Given the description of an element on the screen output the (x, y) to click on. 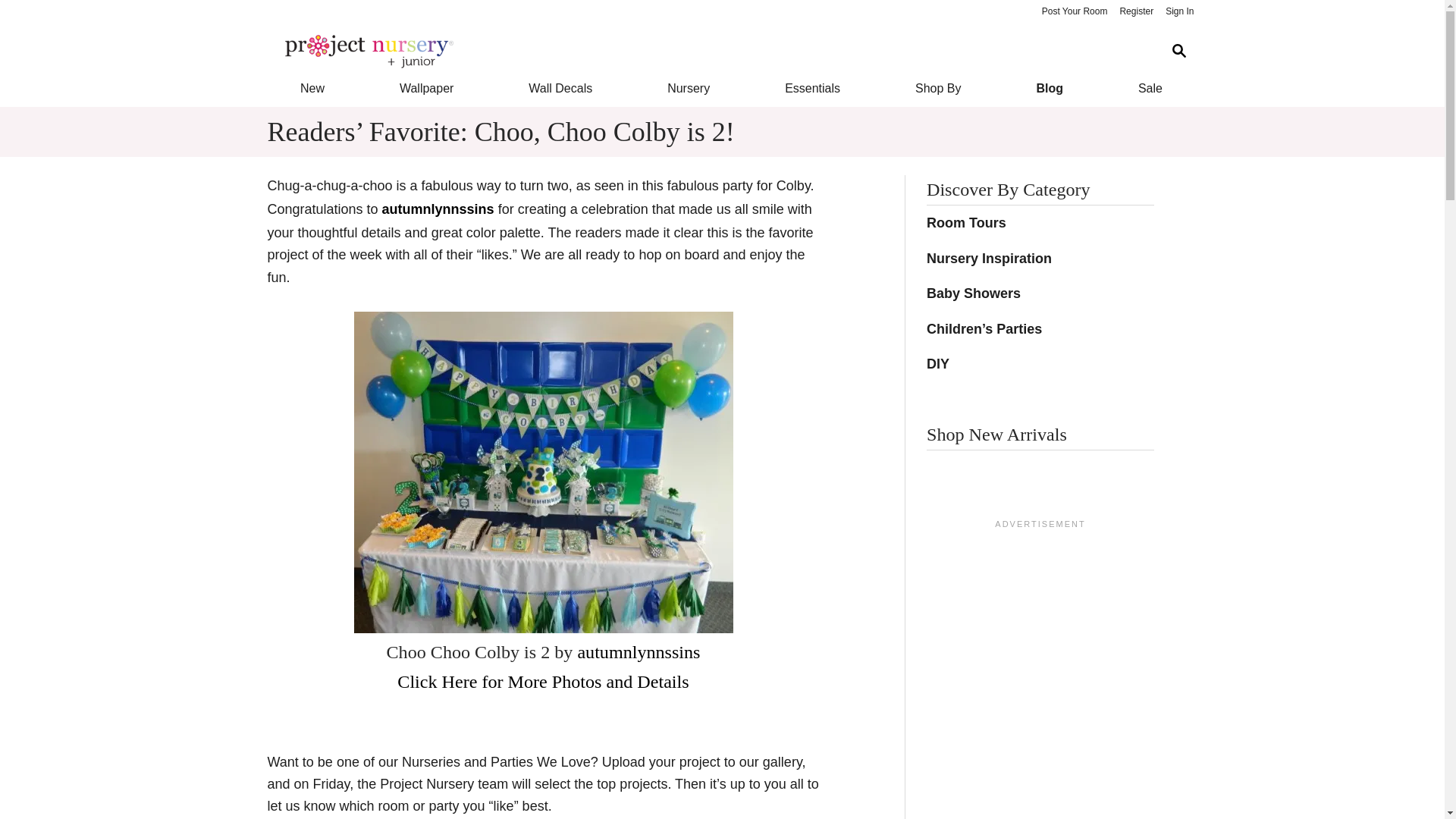
Post Your Room (1074, 11)
New (311, 88)
Wall Decals (561, 88)
Nursery (689, 88)
Search (1178, 50)
choo choo (542, 472)
Post Your Room (1074, 11)
Sign In (1178, 11)
Wallpaper (425, 88)
Project Nursery (709, 51)
Register (1135, 11)
